Given the description of an element on the screen output the (x, y) to click on. 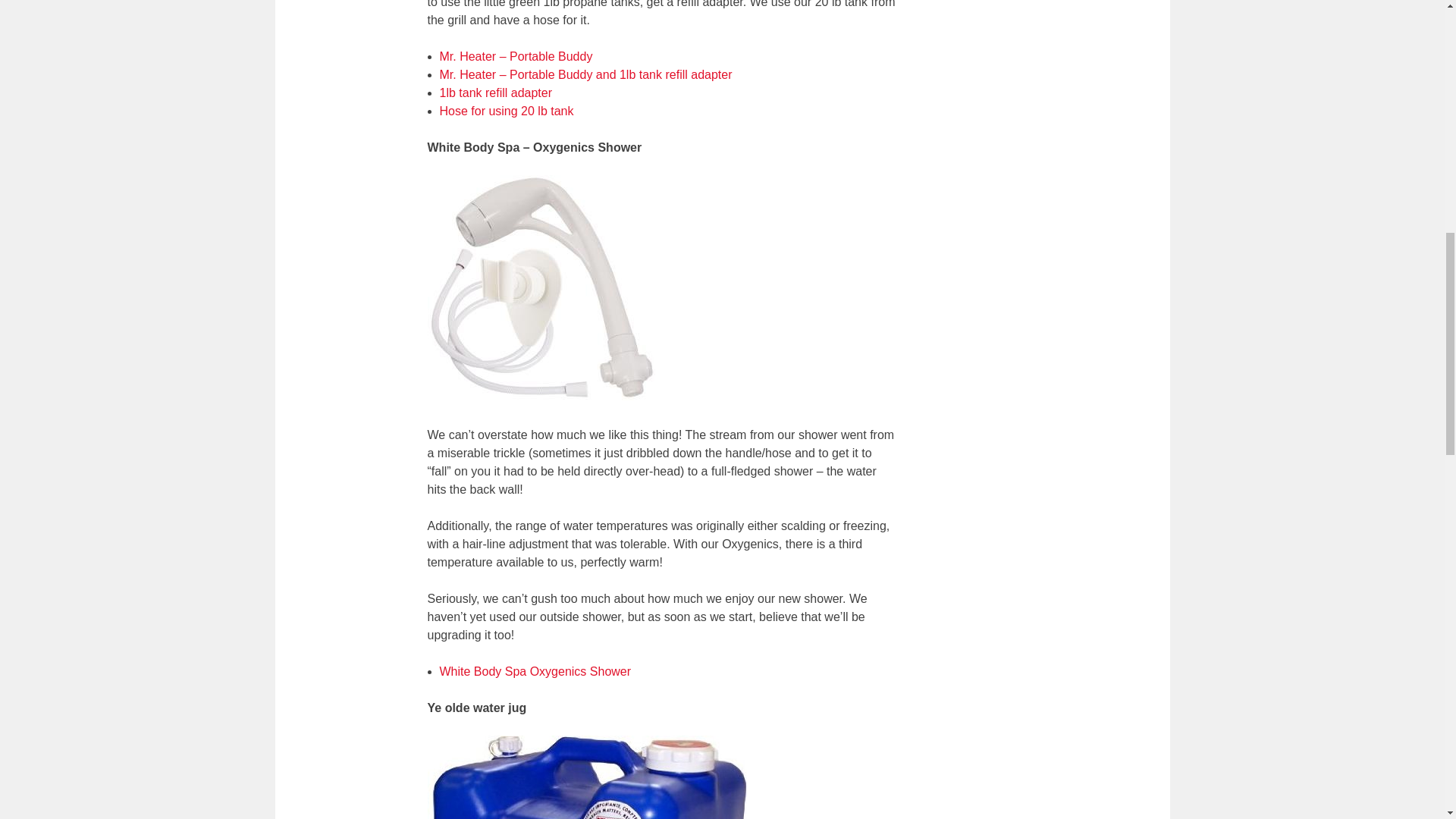
Hose for using 20 lb tank (506, 110)
1lb tank refill adapter (496, 92)
White Body Spa Oxygenics Shower (535, 671)
